Given the description of an element on the screen output the (x, y) to click on. 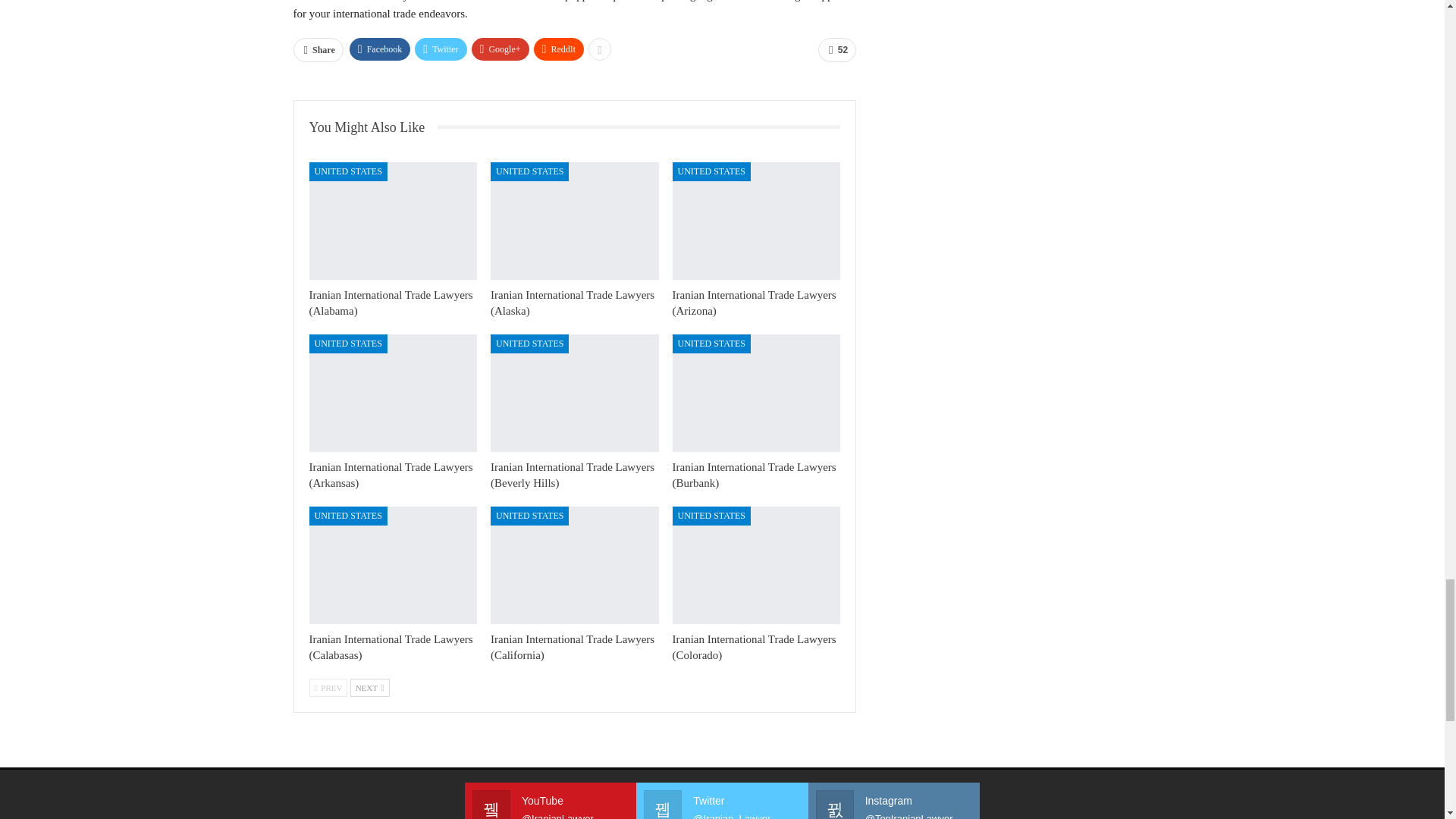
Facebook (379, 48)
UNITED STATES (529, 171)
UNITED STATES (711, 171)
ReddIt (559, 48)
Twitter (439, 48)
UNITED STATES (347, 171)
